Given the description of an element on the screen output the (x, y) to click on. 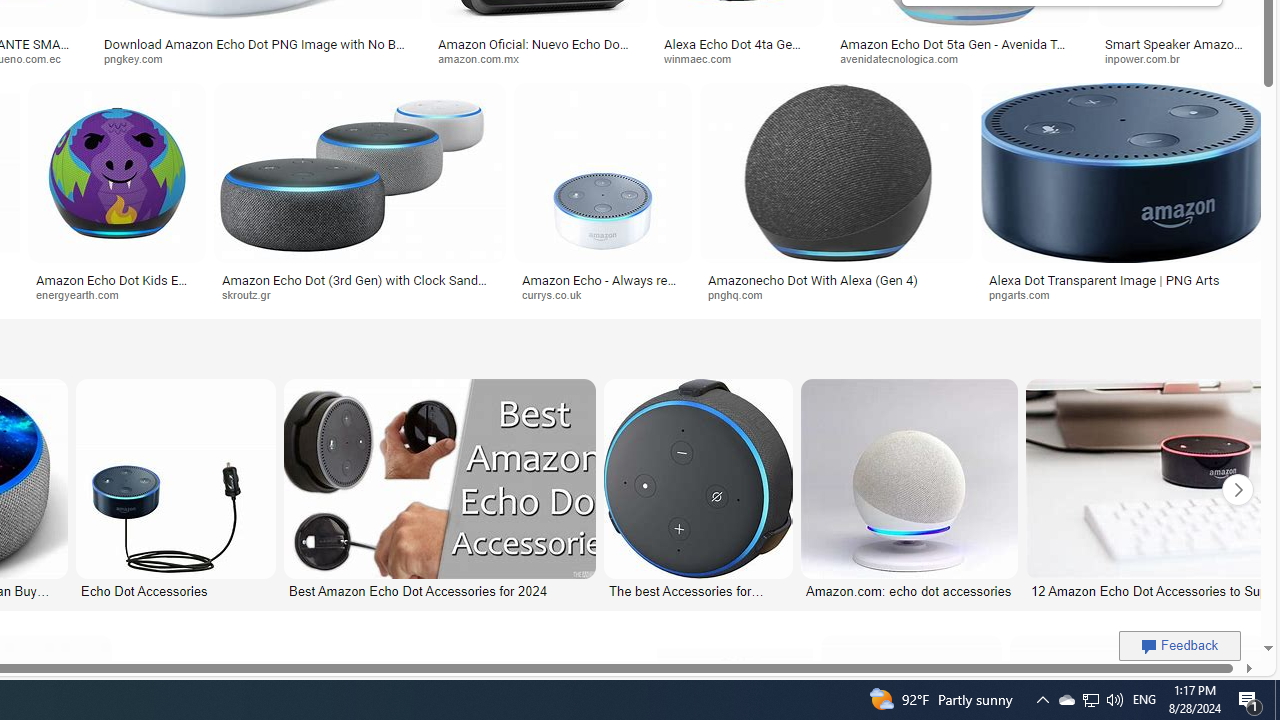
currys.co.uk (602, 295)
energyearth.com (116, 295)
pngarts.com (1026, 294)
Amazon Echo - Always ready, connected and fast. Just ask. (603, 286)
Echo Dot Accessories (175, 589)
Amazonecho Dot With Alexa (Gen 4) (812, 279)
